Given the description of an element on the screen output the (x, y) to click on. 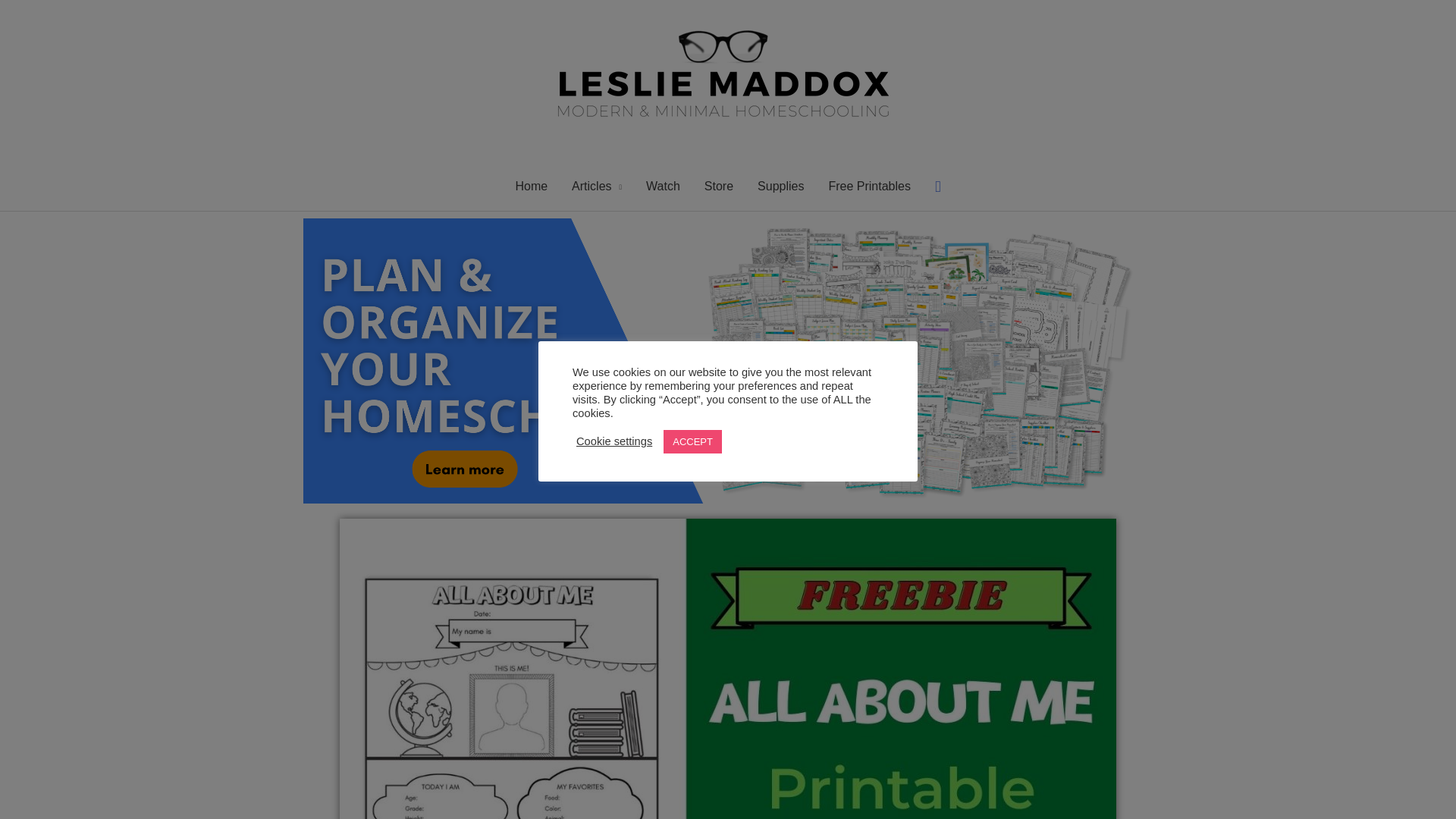
Articles (596, 186)
Home (530, 186)
